Given the description of an element on the screen output the (x, y) to click on. 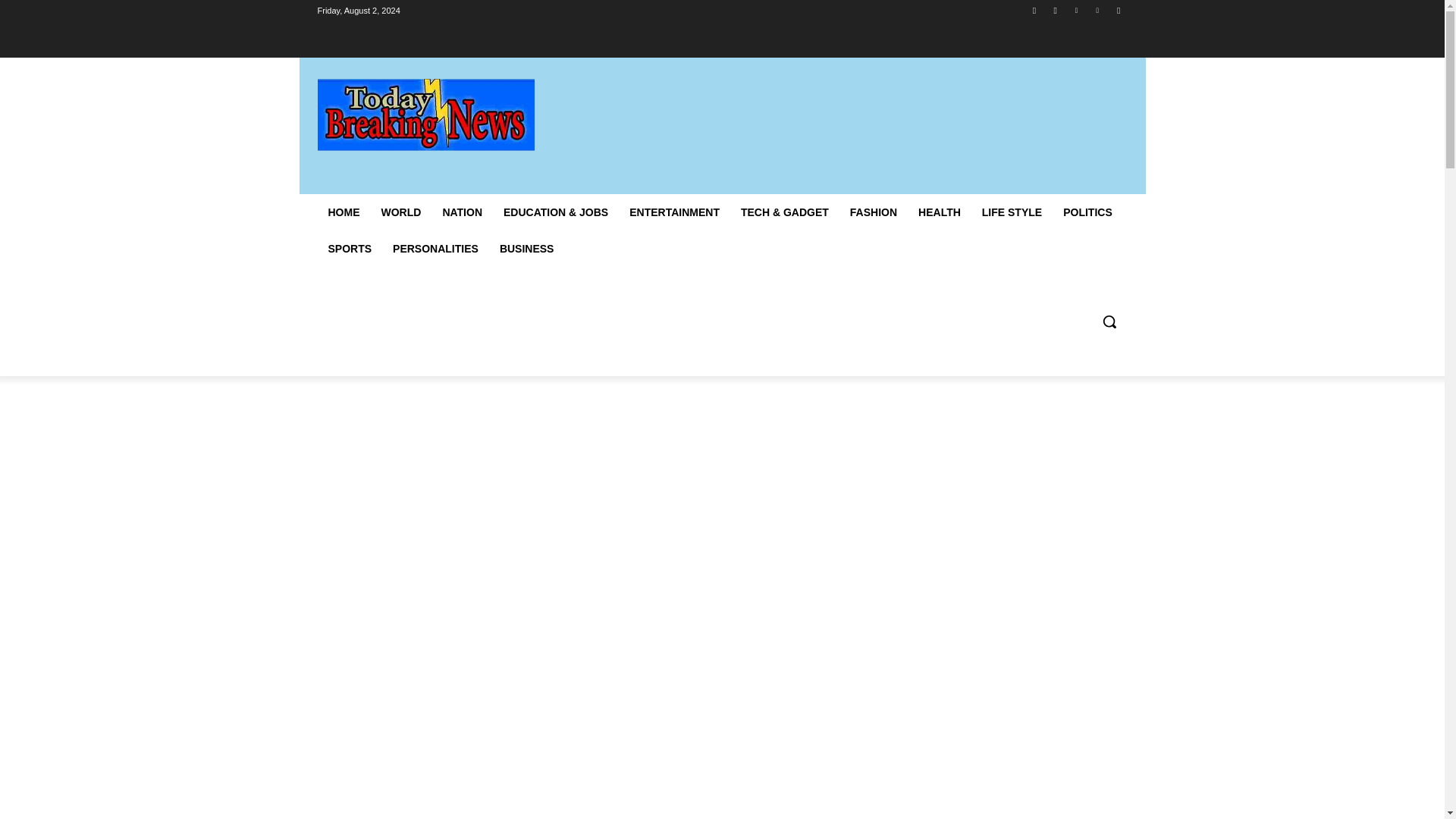
Youtube (1117, 9)
Facebook (1034, 9)
Instagram (1055, 9)
Twitter (1075, 9)
Vimeo (1097, 9)
HOME (343, 212)
